Given the description of an element on the screen output the (x, y) to click on. 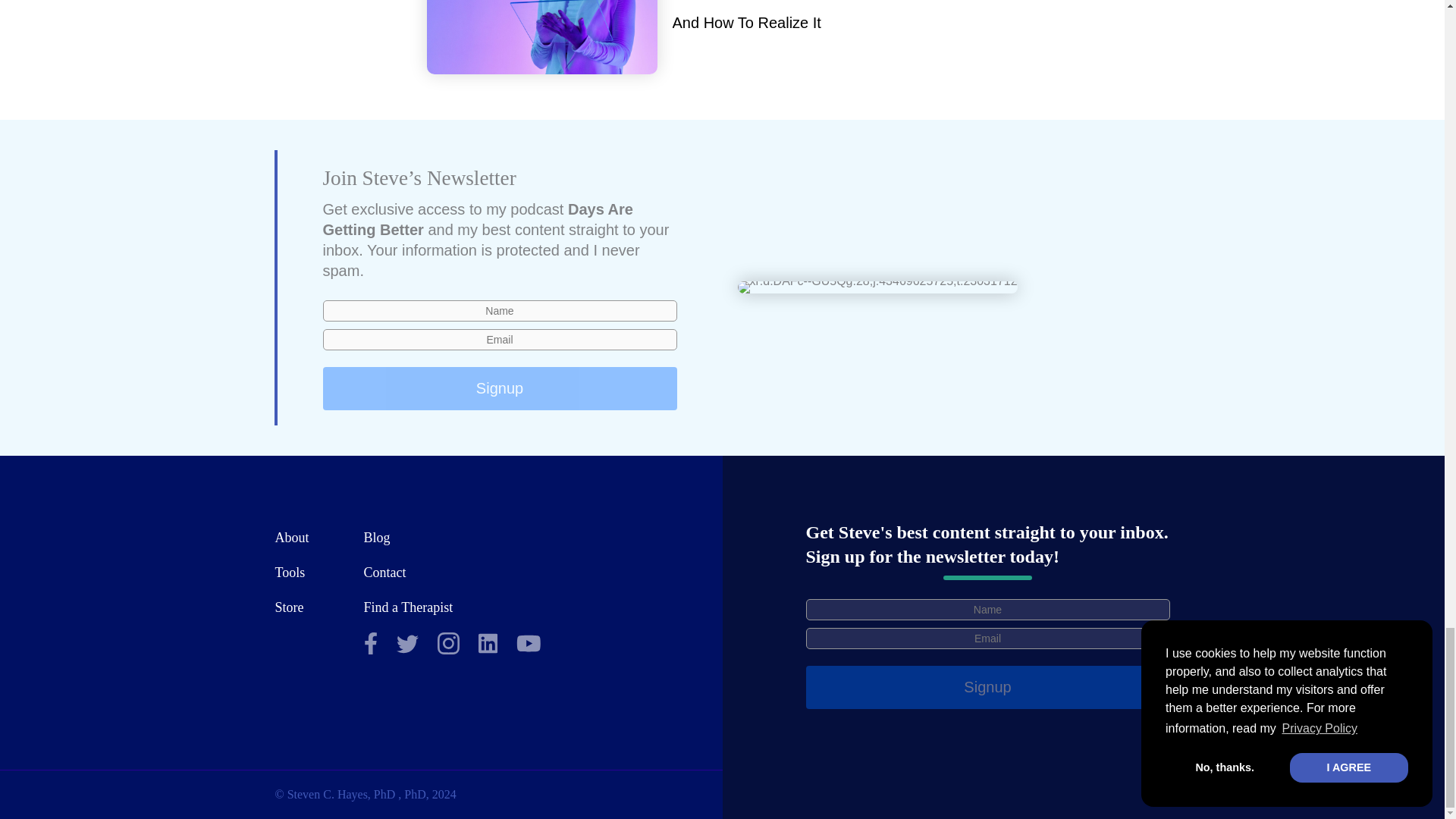
Blog (377, 537)
About (291, 537)
xr:d:DAFc--GU5Qg:28,j:43469625725,t:23031712 (876, 287)
Tools (289, 572)
Find a Therapist (408, 607)
Signup (500, 388)
Contact (385, 572)
Store (288, 607)
